Given the description of an element on the screen output the (x, y) to click on. 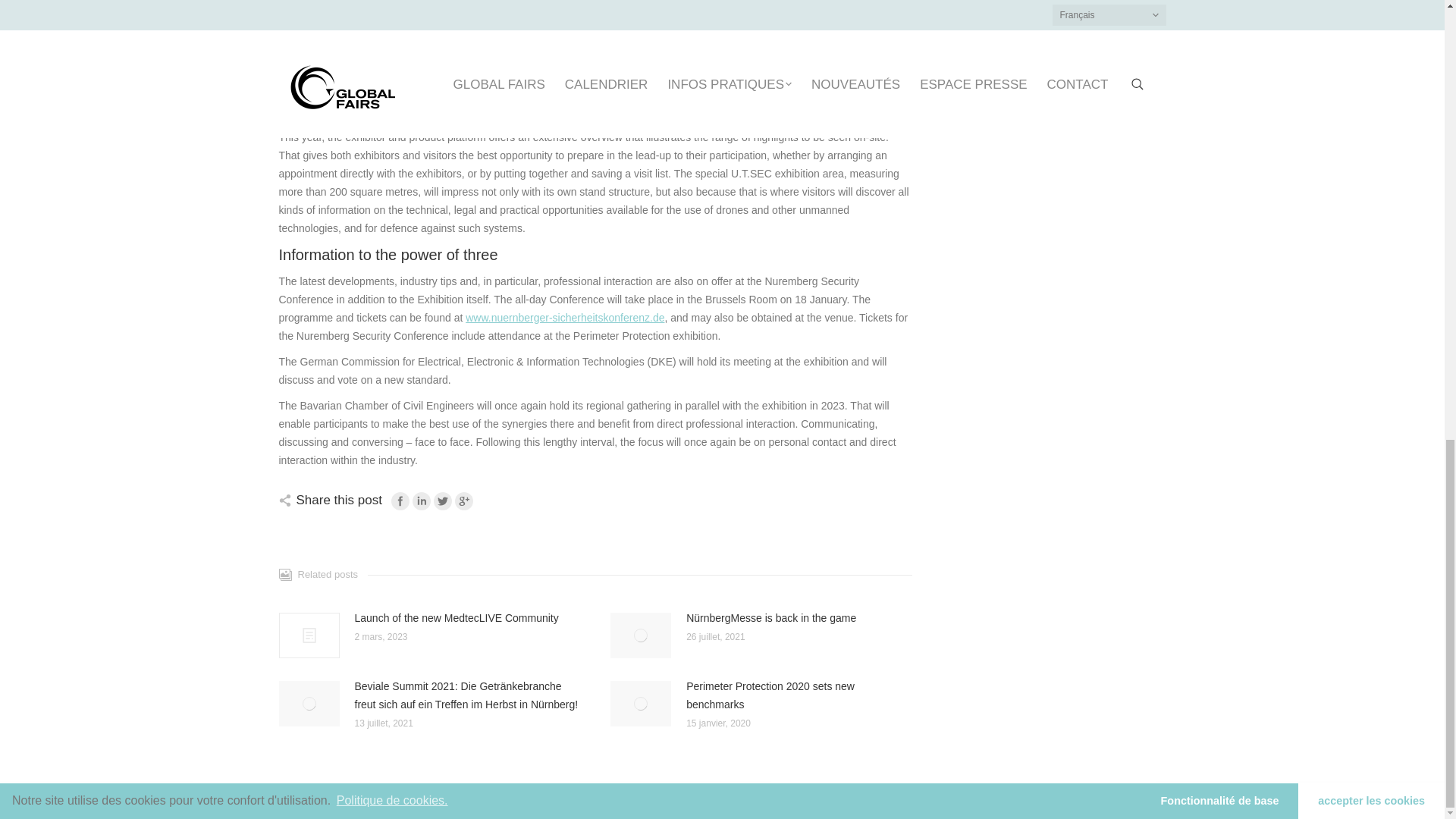
Twitter (442, 501)
LinkedIn (421, 501)
Facebook (400, 501)
